Given the description of an element on the screen output the (x, y) to click on. 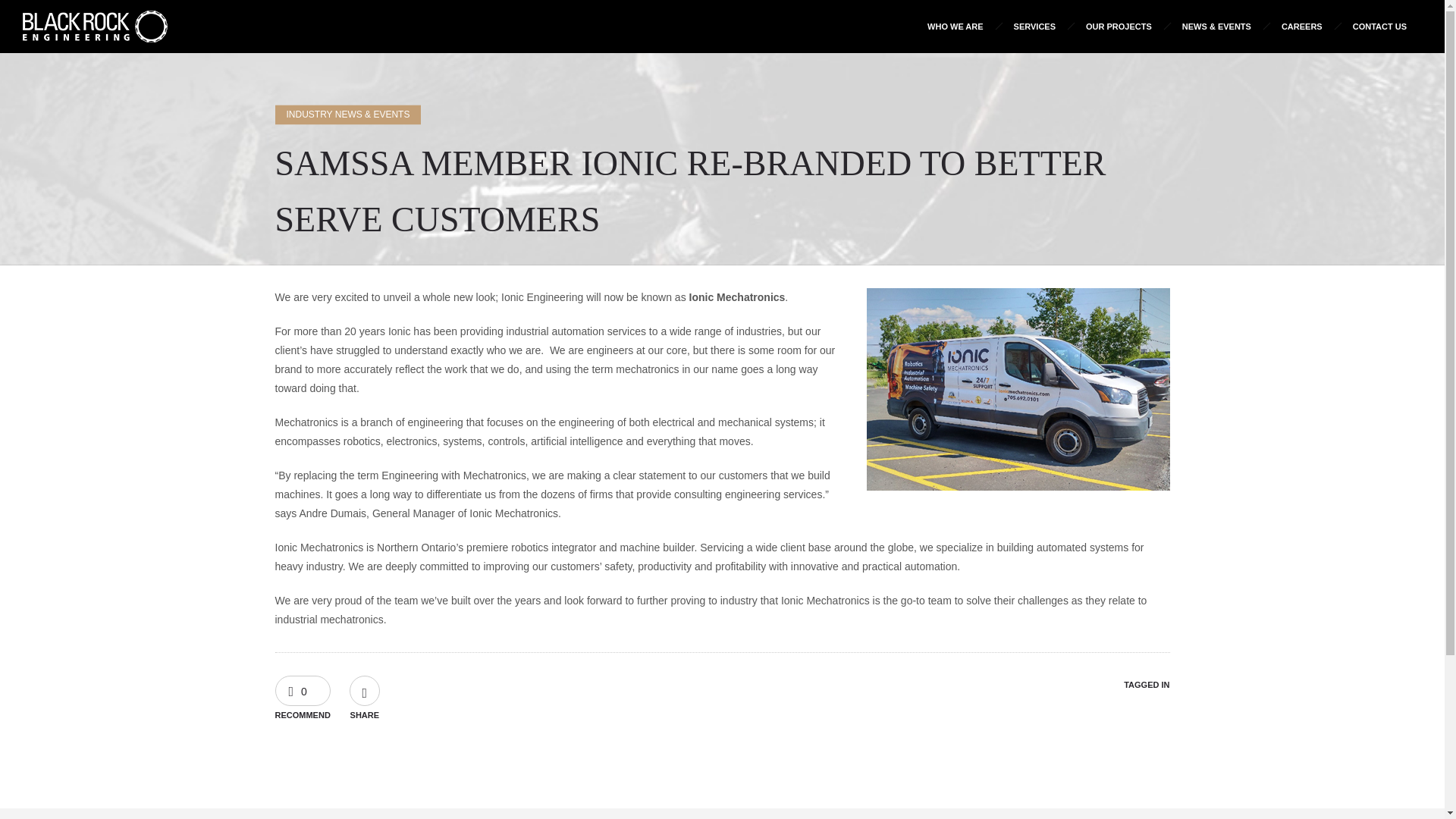
SERVICES (1034, 26)
CONTACT US (1380, 26)
OUR PROJECTS (1118, 26)
CAREERS (1302, 26)
WHO WE ARE (955, 26)
